Given the description of an element on the screen output the (x, y) to click on. 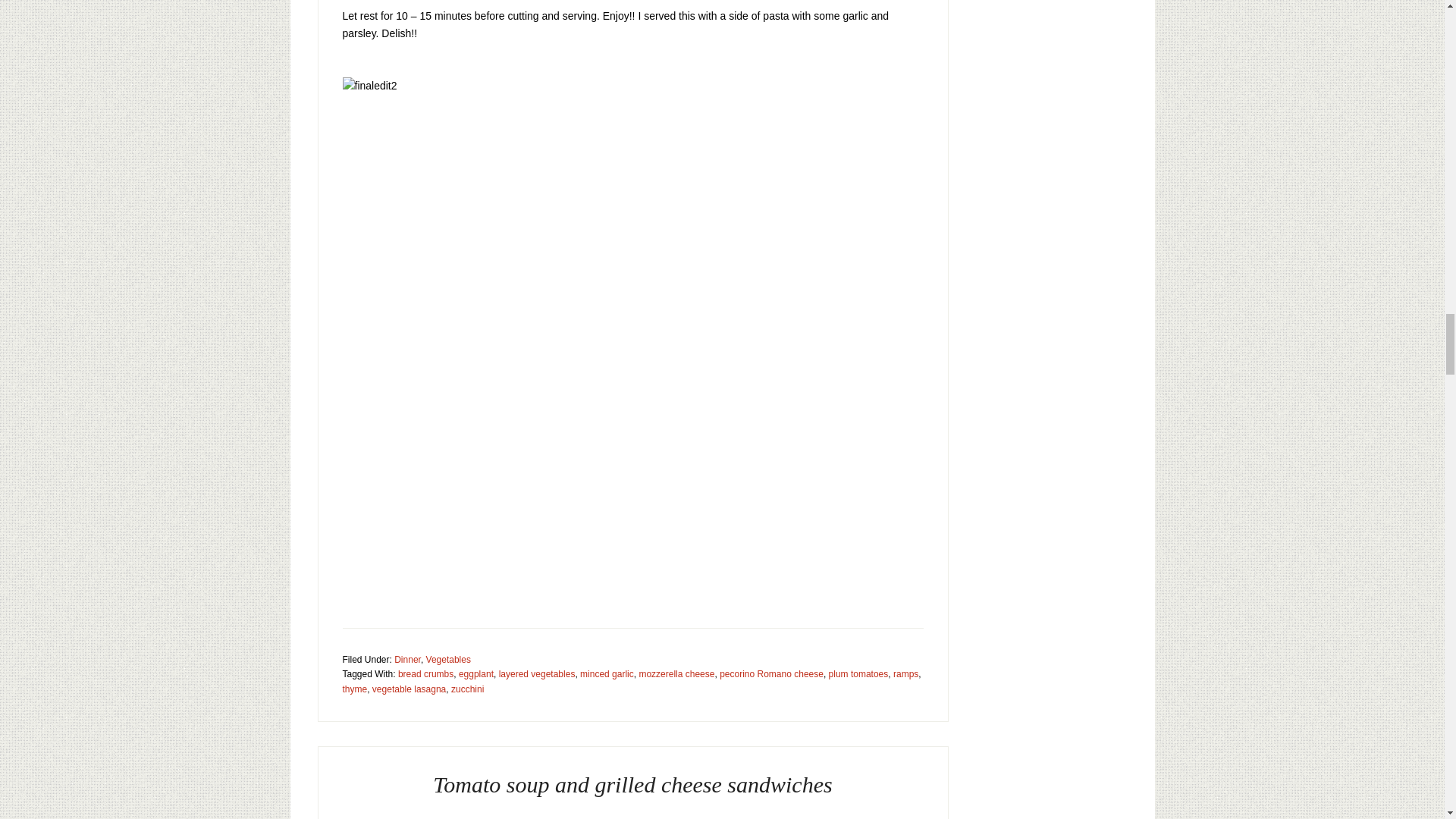
Vegetables (448, 659)
pecorino Romano cheese (771, 674)
ramps (905, 674)
bread crumbs (424, 674)
zucchini (467, 688)
vegetable lasagna (408, 688)
minced garlic (606, 674)
mozzerella cheese (676, 674)
eggplant (475, 674)
plum tomatoes (858, 674)
thyme (355, 688)
Tomato soup and grilled cheese sandwiches (631, 784)
layered vegetables (537, 674)
Dinner (407, 659)
